Given the description of an element on the screen output the (x, y) to click on. 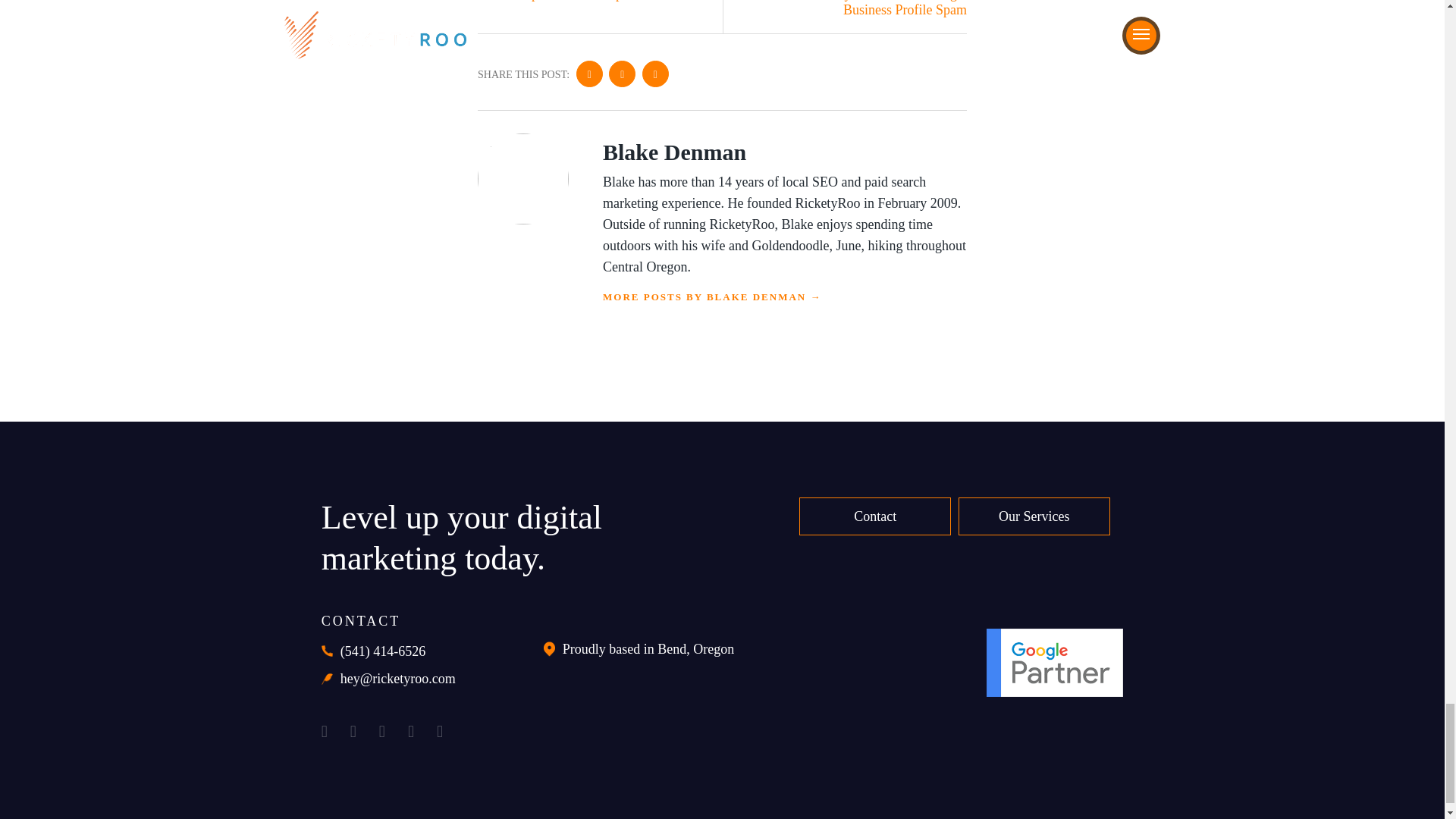
Contact (874, 516)
Share on Facebook (589, 73)
Tweet this (655, 73)
Our Services (1033, 516)
